Given the description of an element on the screen output the (x, y) to click on. 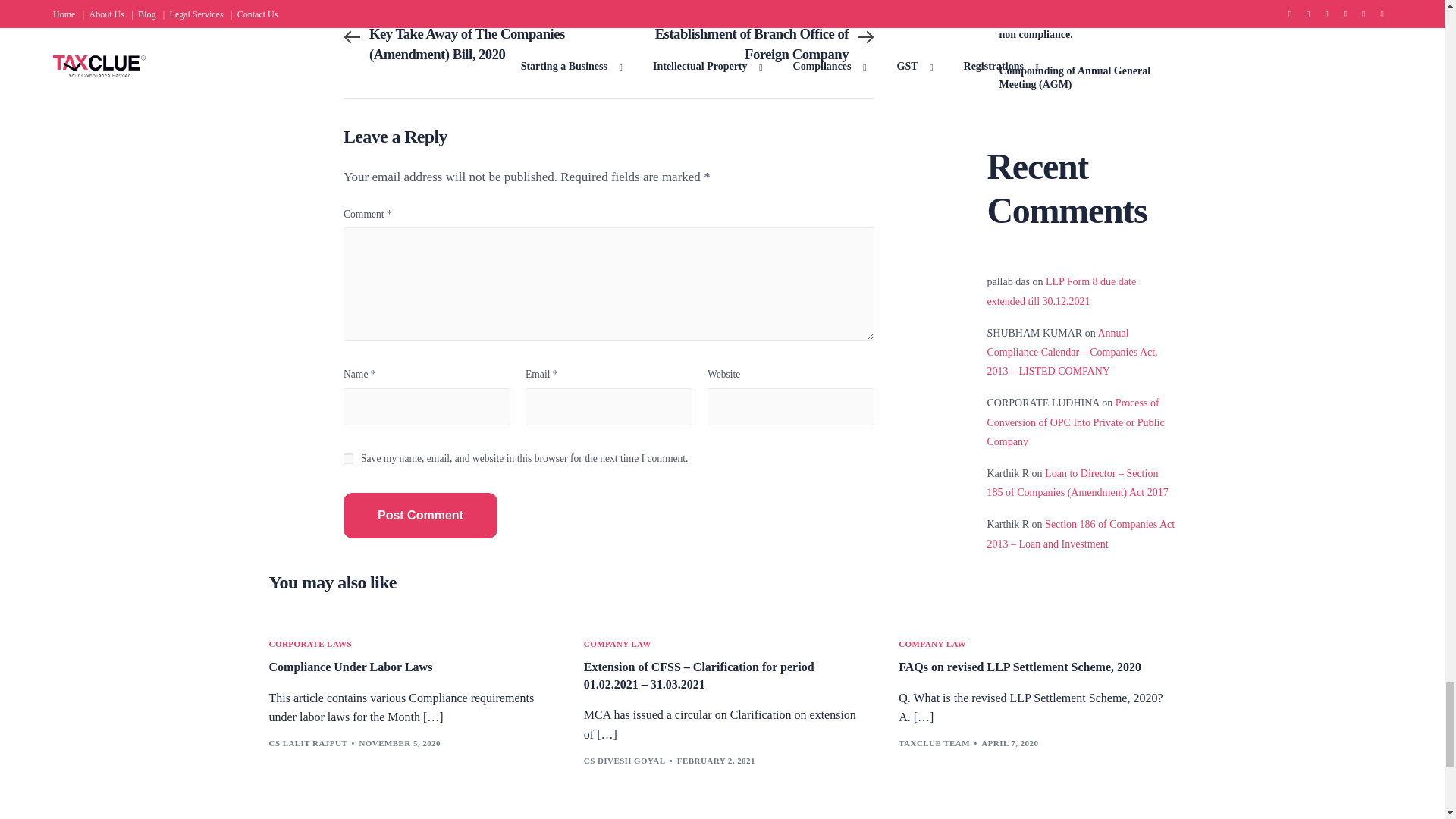
View Company Law posts (616, 643)
View Company Law posts (932, 643)
Post Comment (420, 515)
Posts by CS Divesh Goyal (624, 759)
View Post: FAQs on revised LLP Settlement Scheme, 2020  (1036, 667)
View Corporate Laws posts (309, 643)
Posts by CS Lalit Rajput (307, 742)
Establishment of Branch Office of Foreign Company (741, 43)
View Post: Compliance Under Labor Laws  (405, 667)
